Given the description of an element on the screen output the (x, y) to click on. 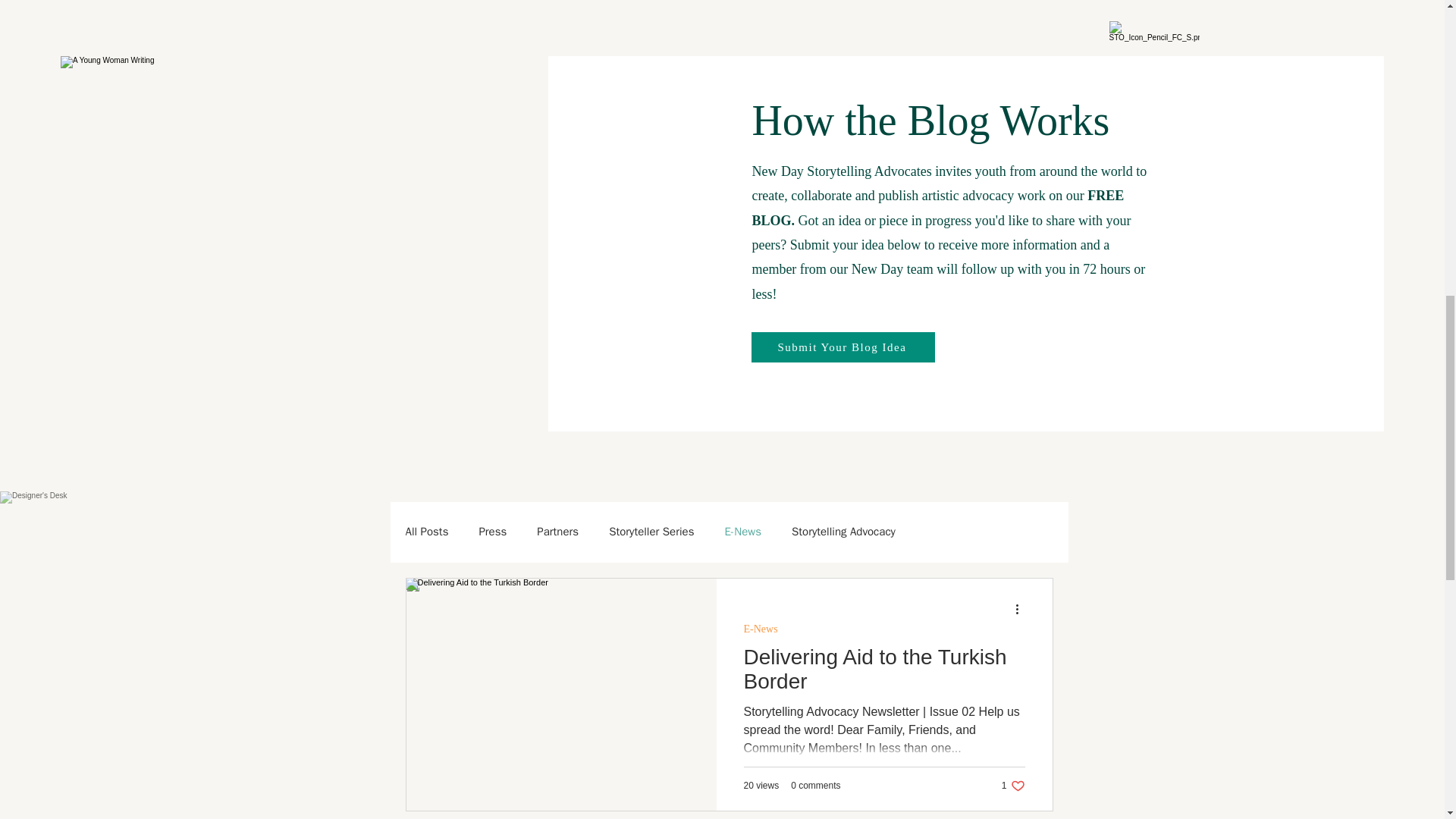
0 comments (815, 785)
All Posts (426, 531)
Delivering Aid to the Turkish Border (883, 673)
E-News (742, 531)
E-News (759, 628)
Partners (557, 531)
Storytelling Advocacy (843, 531)
Submit Your Blog Idea (842, 347)
Storyteller Series (651, 531)
Press (492, 531)
